Given the description of an element on the screen output the (x, y) to click on. 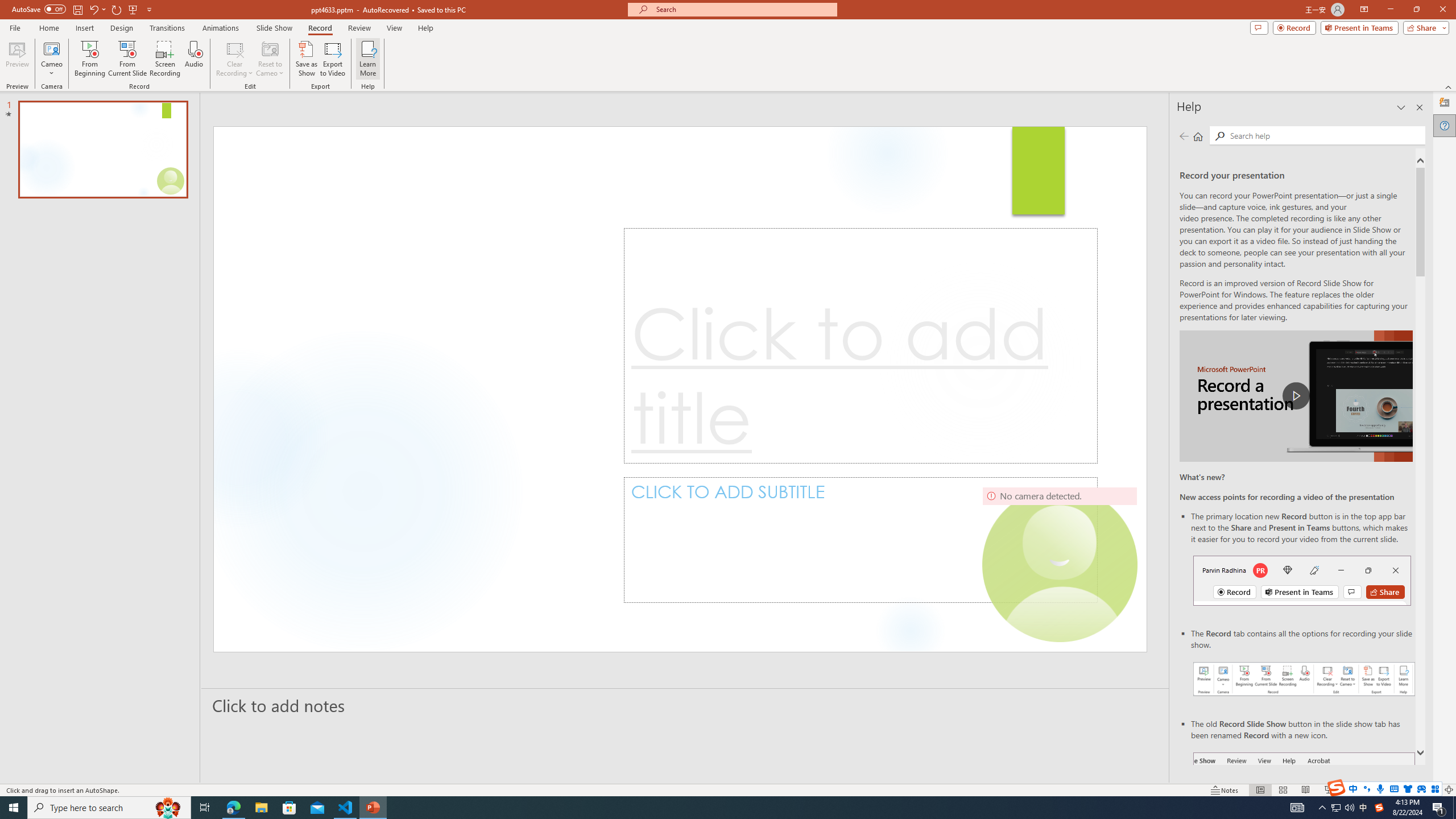
Insert (83, 28)
Learn More (368, 58)
Reset to Cameo (269, 58)
Customize Quick Access Toolbar (149, 9)
Screen Recording (165, 58)
From Beginning... (89, 58)
Class: MsoCommandBar (728, 789)
Export to Video (332, 58)
Task Pane Options (1400, 107)
Microsoft search (742, 9)
AutoSave (38, 9)
